Given the description of an element on the screen output the (x, y) to click on. 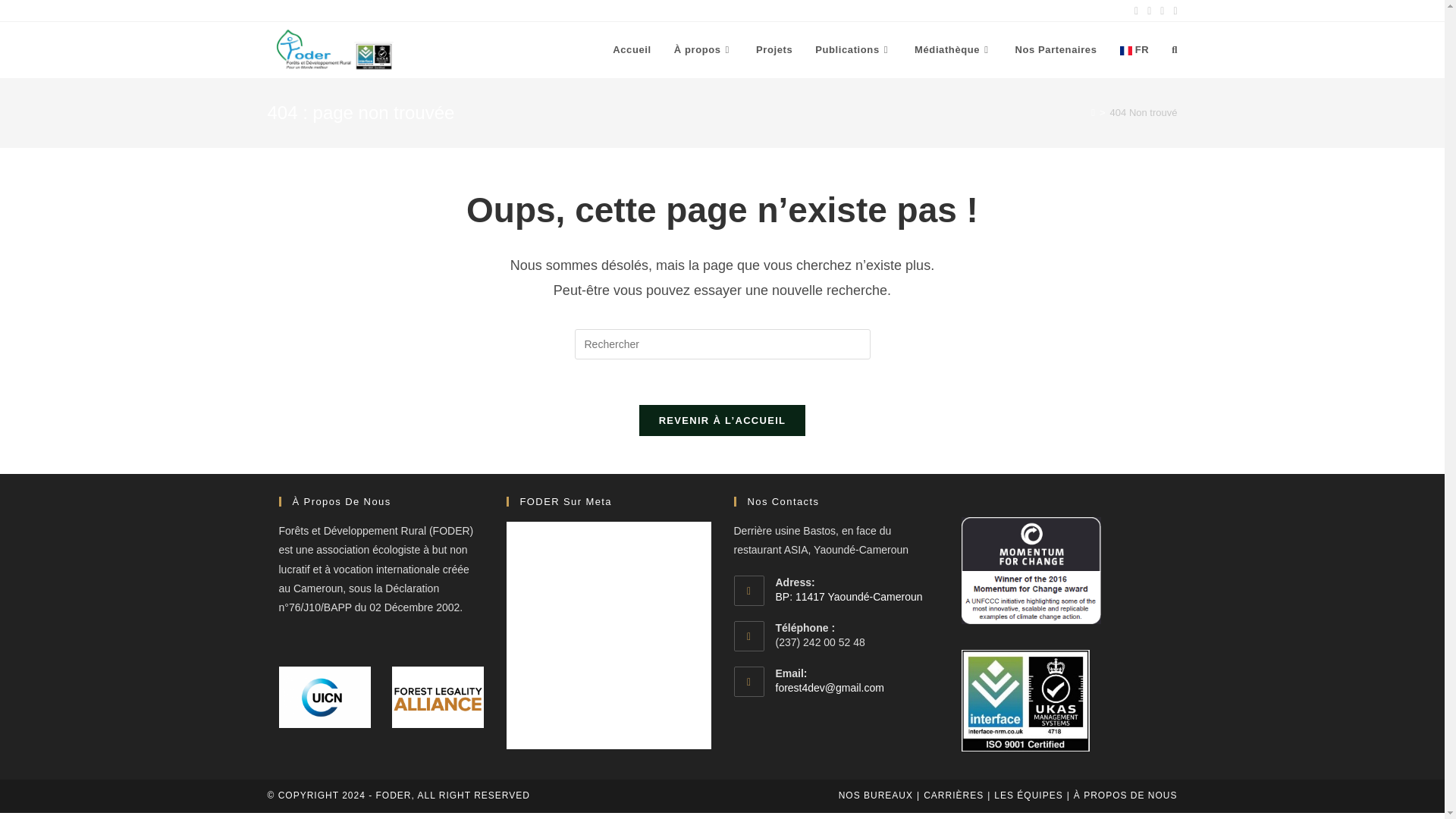
Accueil (631, 49)
FR (1134, 49)
Nos Partenaires (1056, 49)
FODER Sur Meta (565, 501)
Publications (852, 49)
NOS BUREAUX (875, 795)
Projets (773, 49)
French (1134, 49)
